Given the description of an element on the screen output the (x, y) to click on. 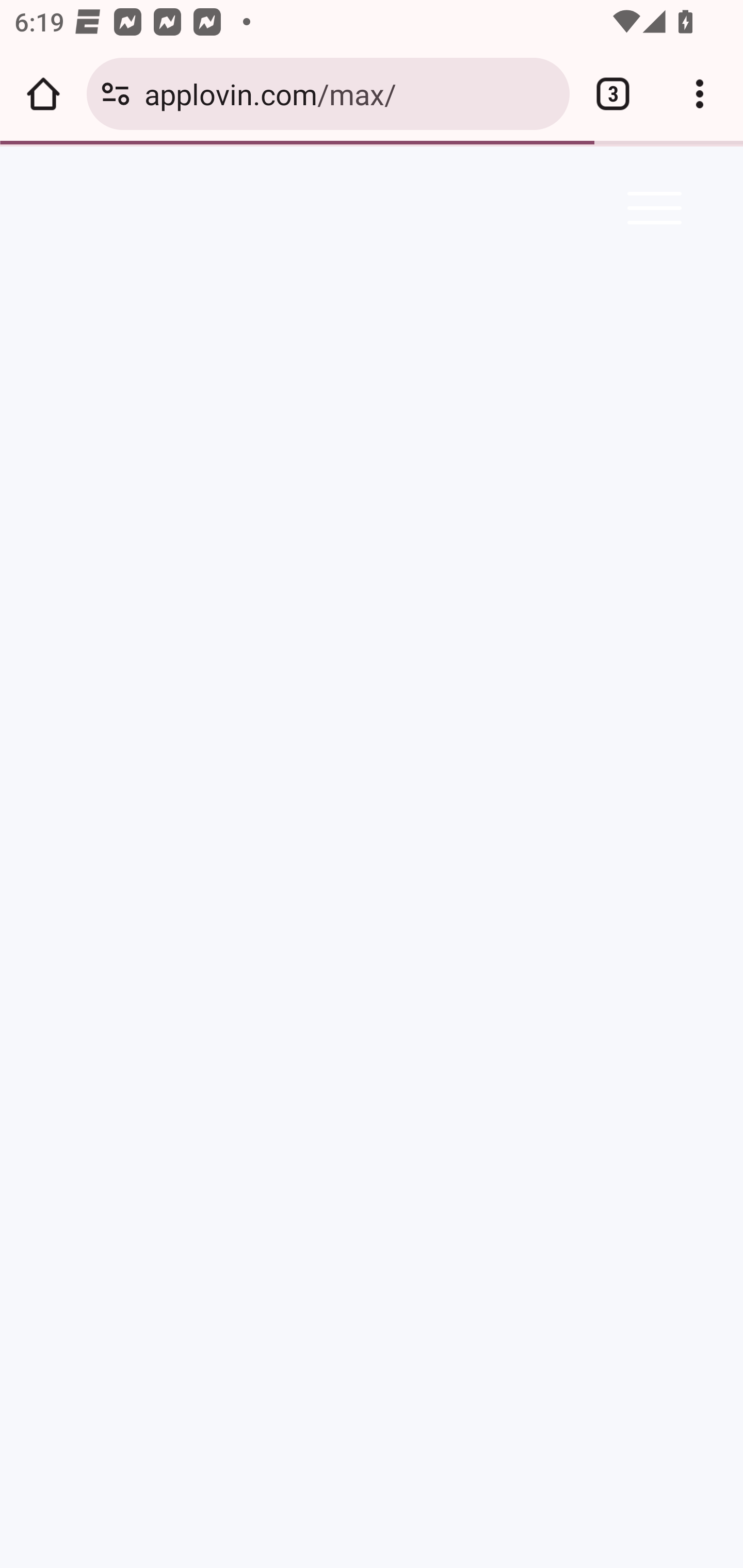
Open the home page (43, 93)
Connection is secure (115, 93)
Switch or close tabs (612, 93)
Customize and control Google Chrome (699, 93)
applovin.com/max/ (349, 92)
Menu Trigger (650, 207)
